Given the description of an element on the screen output the (x, y) to click on. 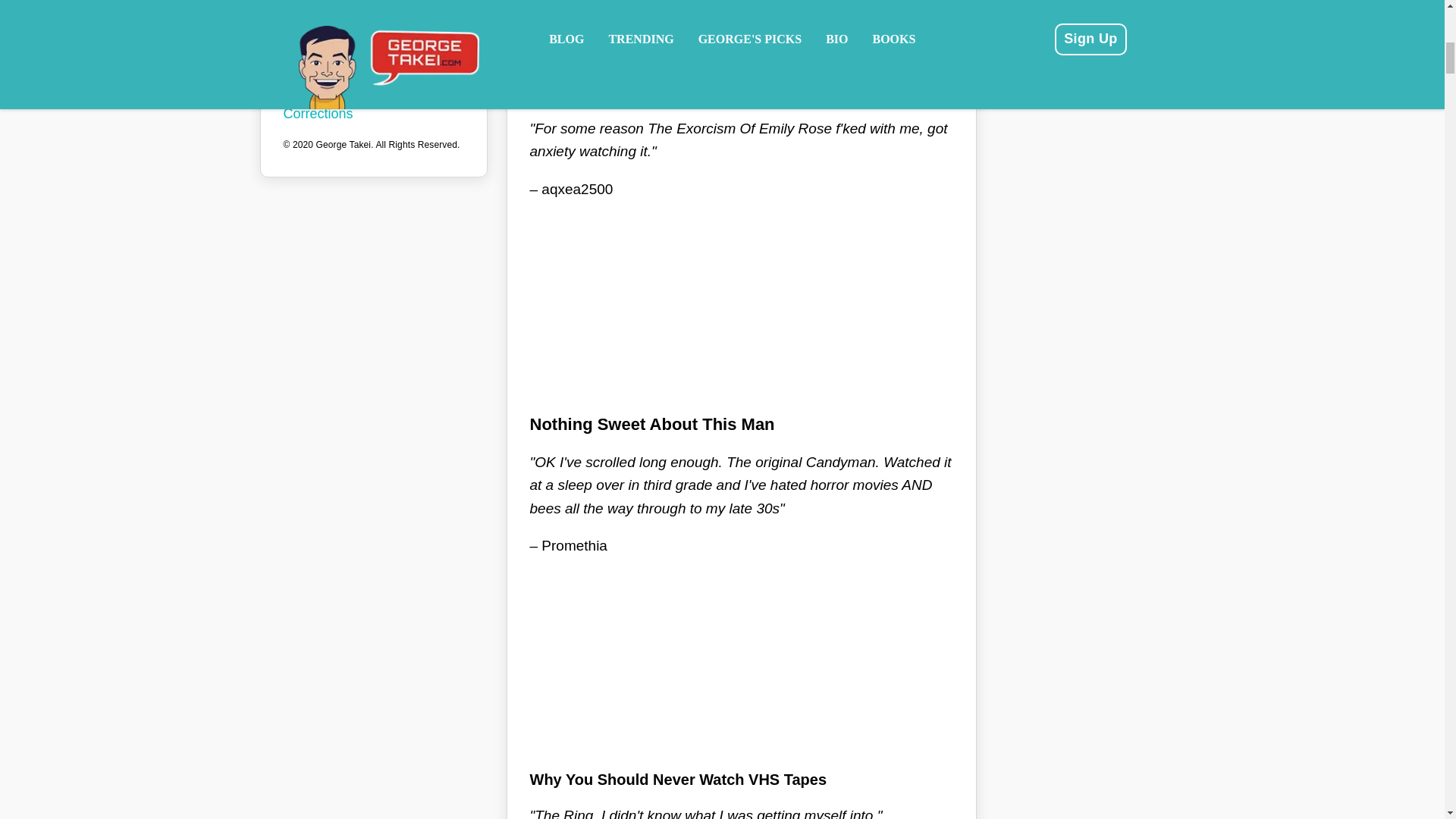
Privacy Policy (373, 69)
Editorial Staff (373, 92)
About (373, 48)
Corrections (373, 114)
